Given the description of an element on the screen output the (x, y) to click on. 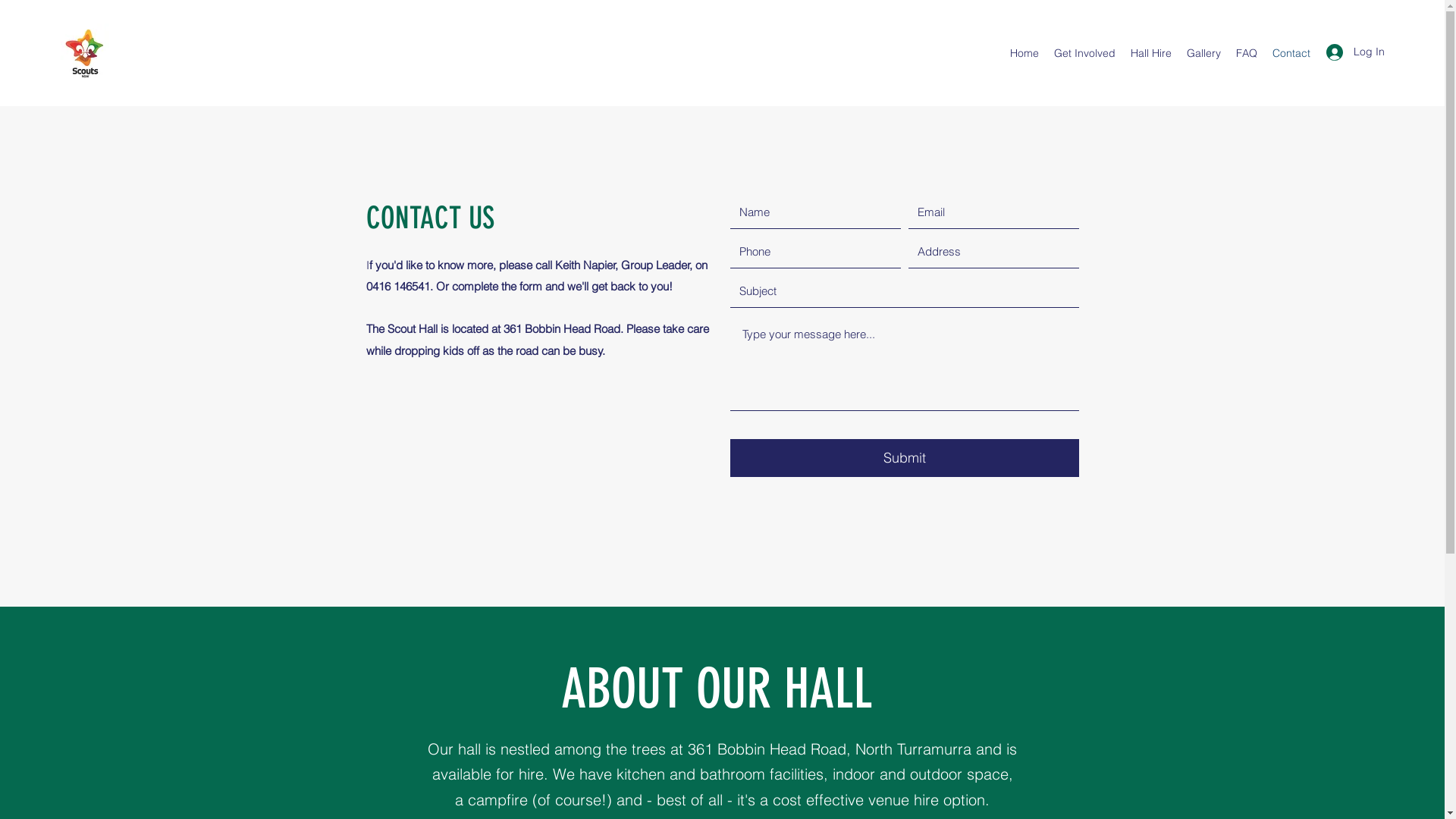
Get Involved Element type: text (1084, 52)
Home Element type: text (1024, 52)
Contact Element type: text (1290, 52)
Submit Element type: text (903, 457)
FAQ Element type: text (1246, 52)
Hall Hire Element type: text (1151, 52)
Log In Element type: text (1349, 51)
Gallery Element type: text (1203, 52)
